Given the description of an element on the screen output the (x, y) to click on. 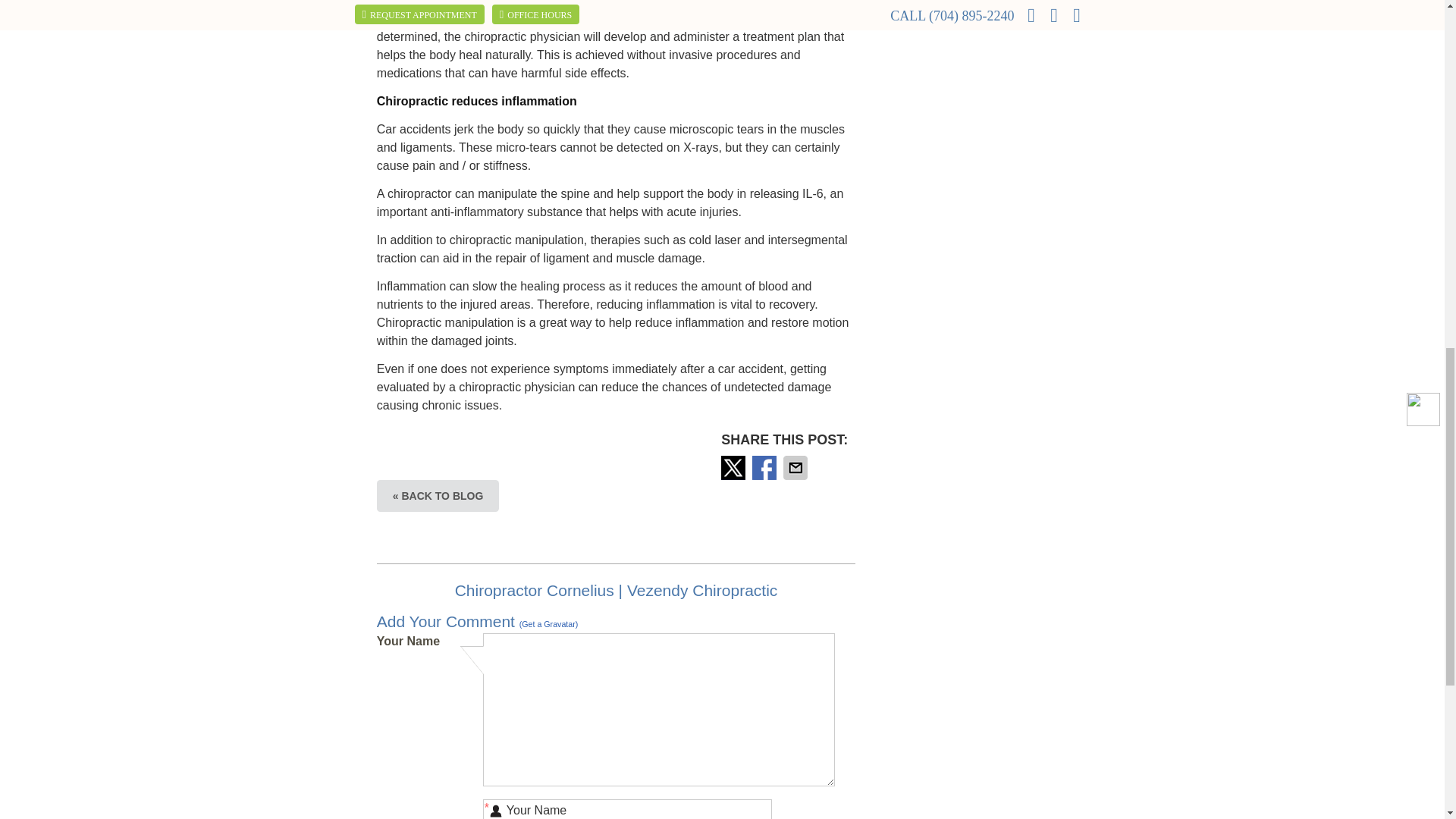
Your Name (627, 809)
Share on Facebook (765, 467)
Share on Twitter (734, 467)
Share via Email (796, 467)
Your Name (627, 809)
